Given the description of an element on the screen output the (x, y) to click on. 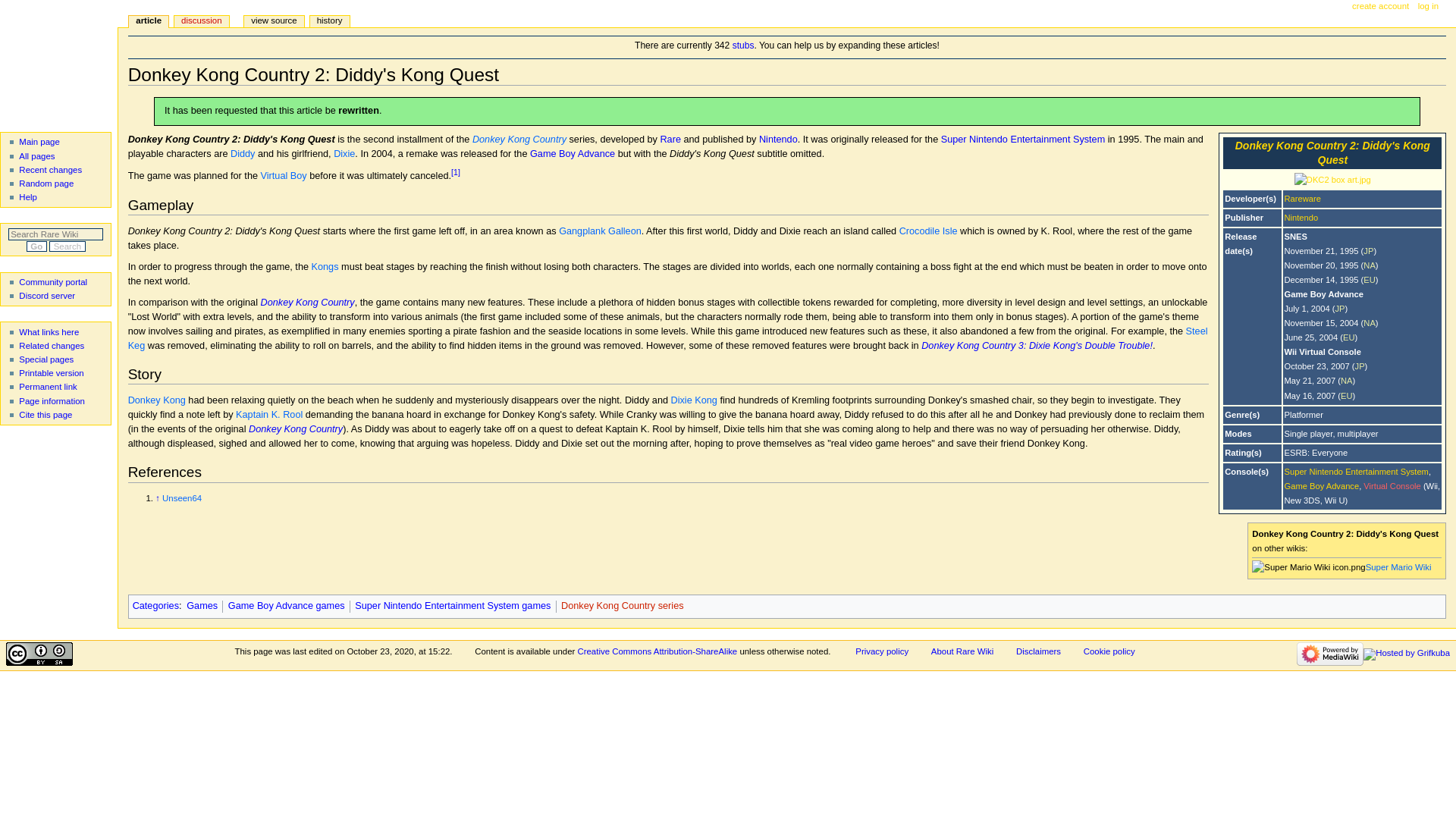
Donkey Kong Country (307, 302)
EU (1346, 395)
Crocodile Isle (928, 231)
Donkey Kong (157, 399)
wikipedia:North America (1368, 322)
EU (1368, 279)
Nintendo (1301, 216)
Rare Ltd. (1302, 198)
wikipedia:North America (1346, 379)
Super Nintendo Entertainment System (1022, 139)
